Given the description of an element on the screen output the (x, y) to click on. 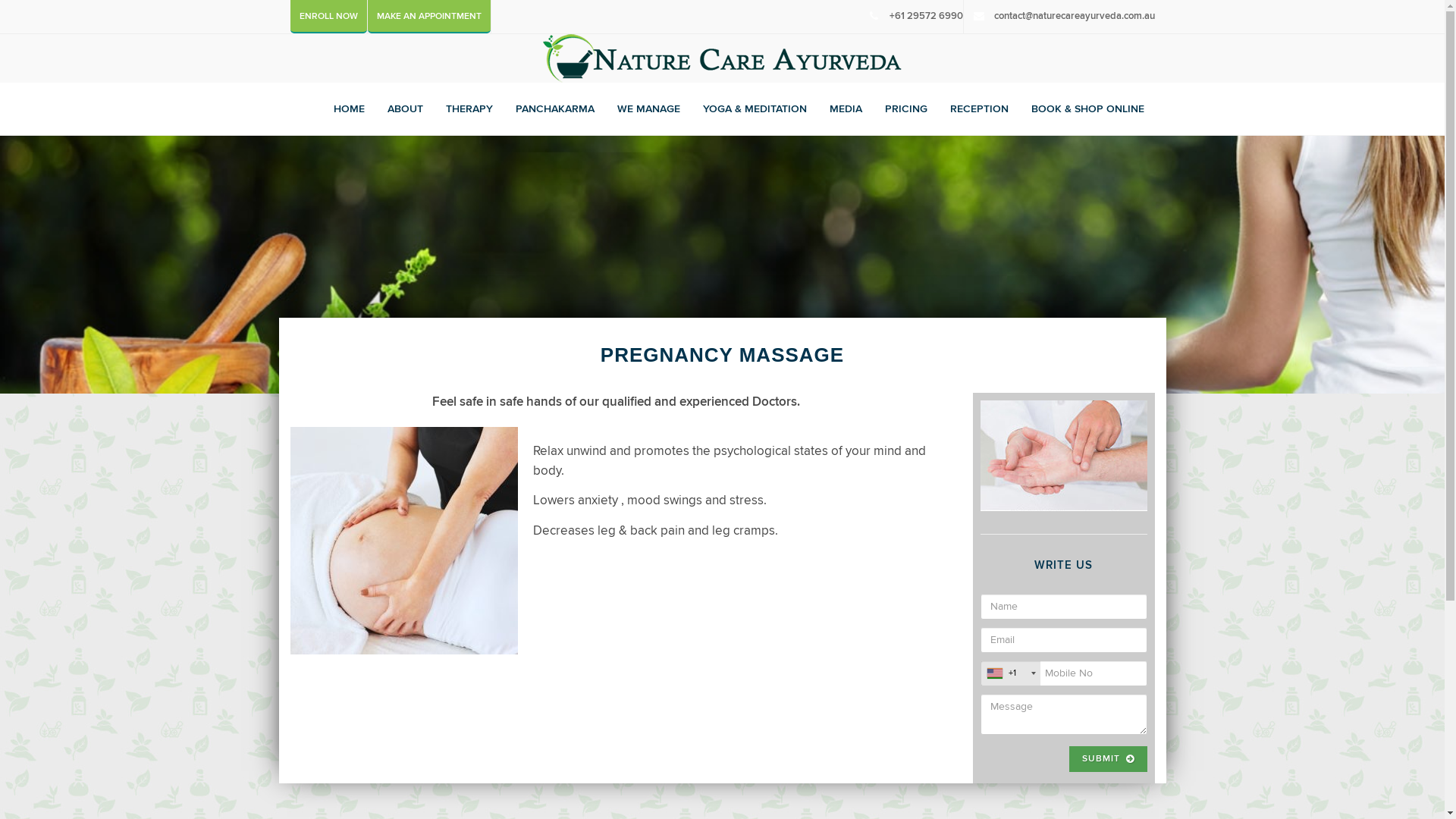
PANCHAKARMA Element type: text (555, 108)
RECEPTION Element type: text (978, 108)
YOGA & MEDITATION Element type: text (753, 108)
PRICING Element type: text (905, 108)
MEDIA Element type: text (845, 108)
THERAPY Element type: text (469, 108)
SUBMIT Element type: text (1108, 758)
ABOUT Element type: text (404, 108)
BOOK & SHOP ONLINE Element type: text (1087, 108)
HOME Element type: text (349, 108)
ENROLL NOW Element type: text (327, 16)
MAKE AN APPOINTMENT Element type: text (428, 16)
WE MANAGE Element type: text (648, 108)
